Given the description of an element on the screen output the (x, y) to click on. 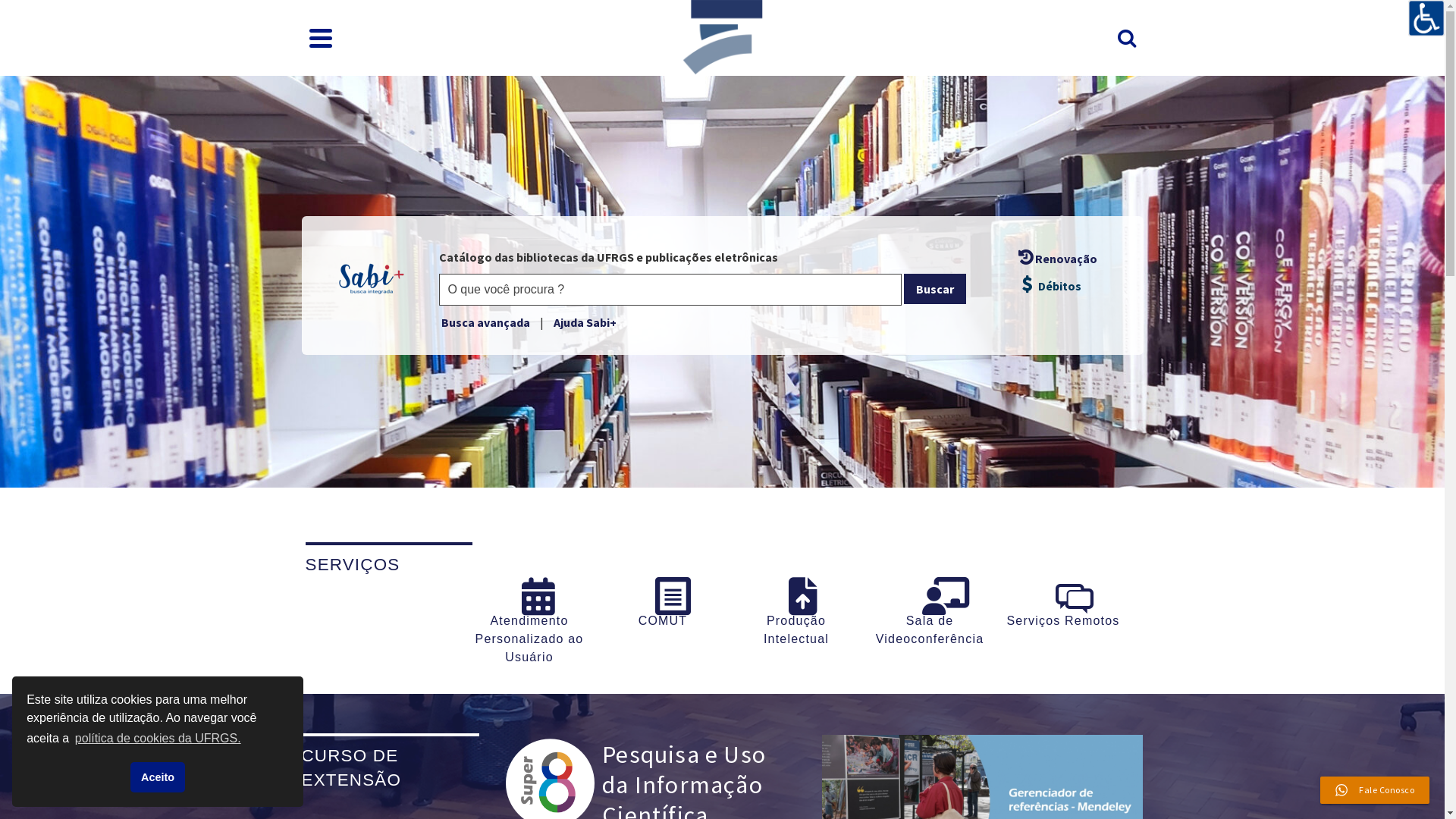
Buscar Element type: text (934, 288)
  Element type: text (528, 627)
  Element type: text (662, 627)
  Element type: text (795, 627)
Ajuda Sabi+ Element type: text (585, 321)
Aceito Element type: text (157, 777)
  Element type: text (1062, 627)
  Element type: text (929, 627)
